Given the description of an element on the screen output the (x, y) to click on. 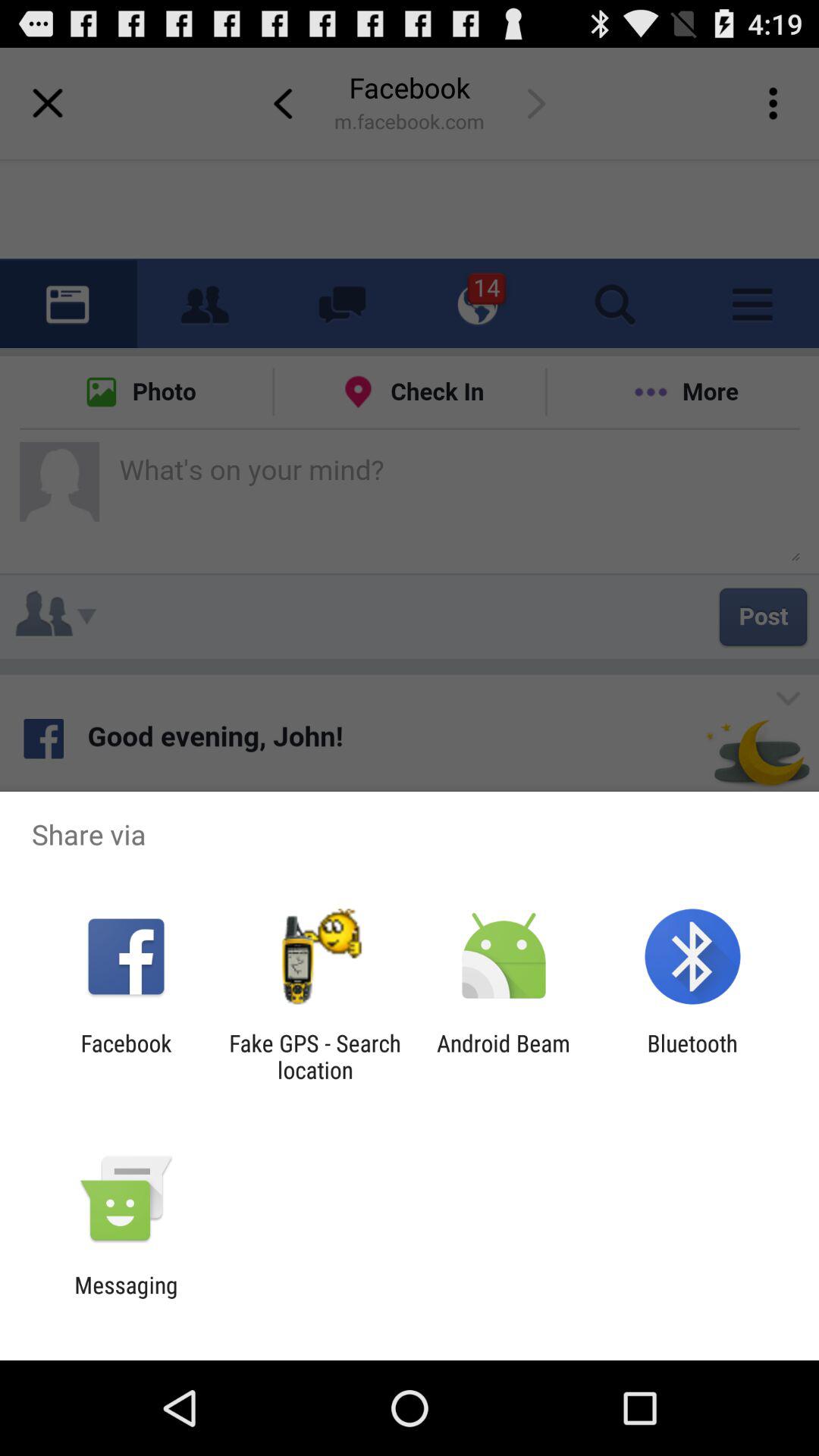
choose the item to the right of android beam item (692, 1056)
